Given the description of an element on the screen output the (x, y) to click on. 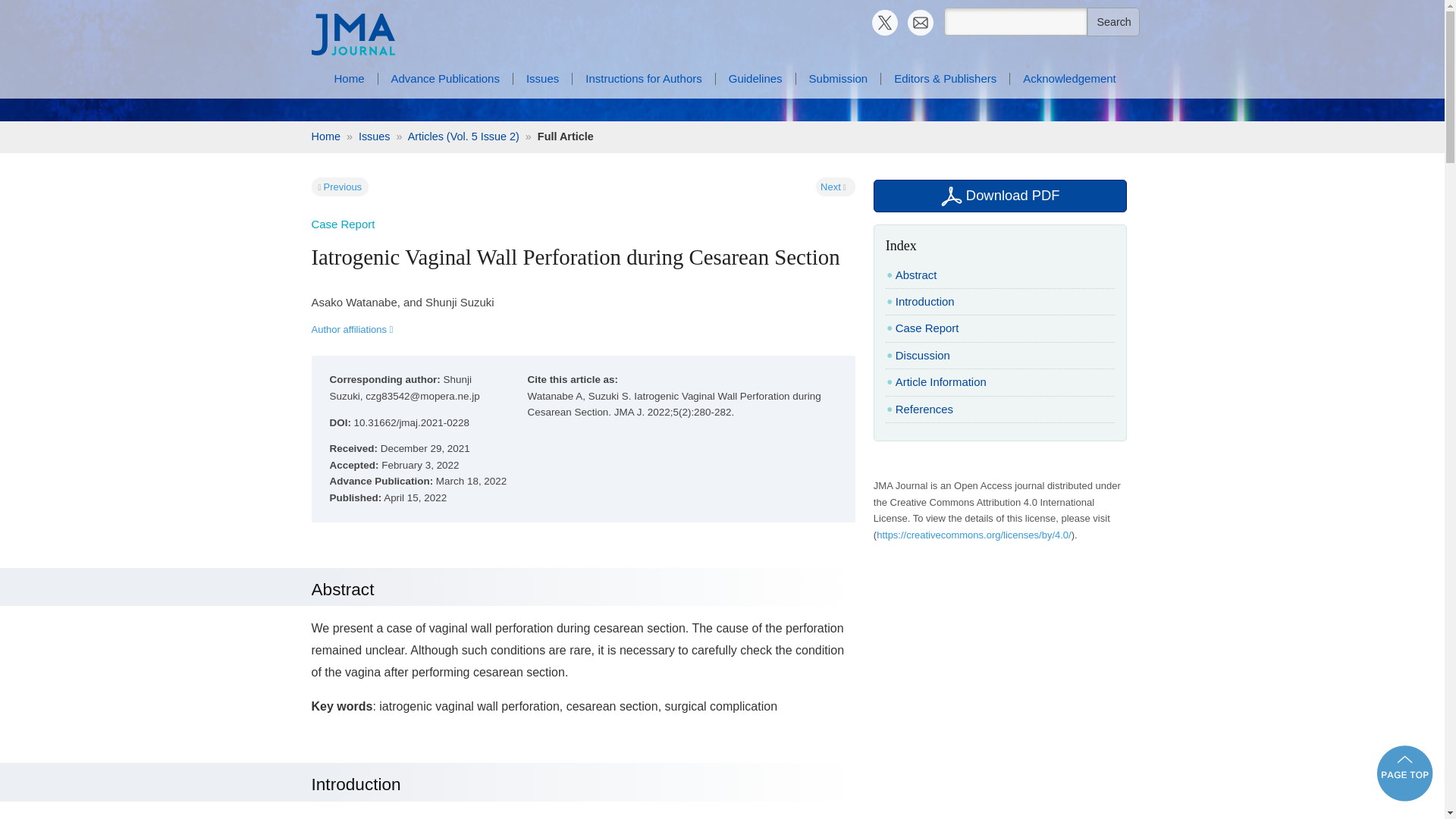
Author affiliations  (352, 329)
Acknowledgement (1287, 132)
Submission (1345, 107)
Instructions for Authors (1353, 95)
Issues (374, 136)
Home (325, 136)
Home (348, 78)
Issues (1261, 95)
Advance Publications (445, 78)
Previous (342, 186)
JMA Journal (721, 34)
Search (1112, 21)
Advance Publications (1347, 83)
Guidelines (1270, 107)
Next (831, 186)
